Given the description of an element on the screen output the (x, y) to click on. 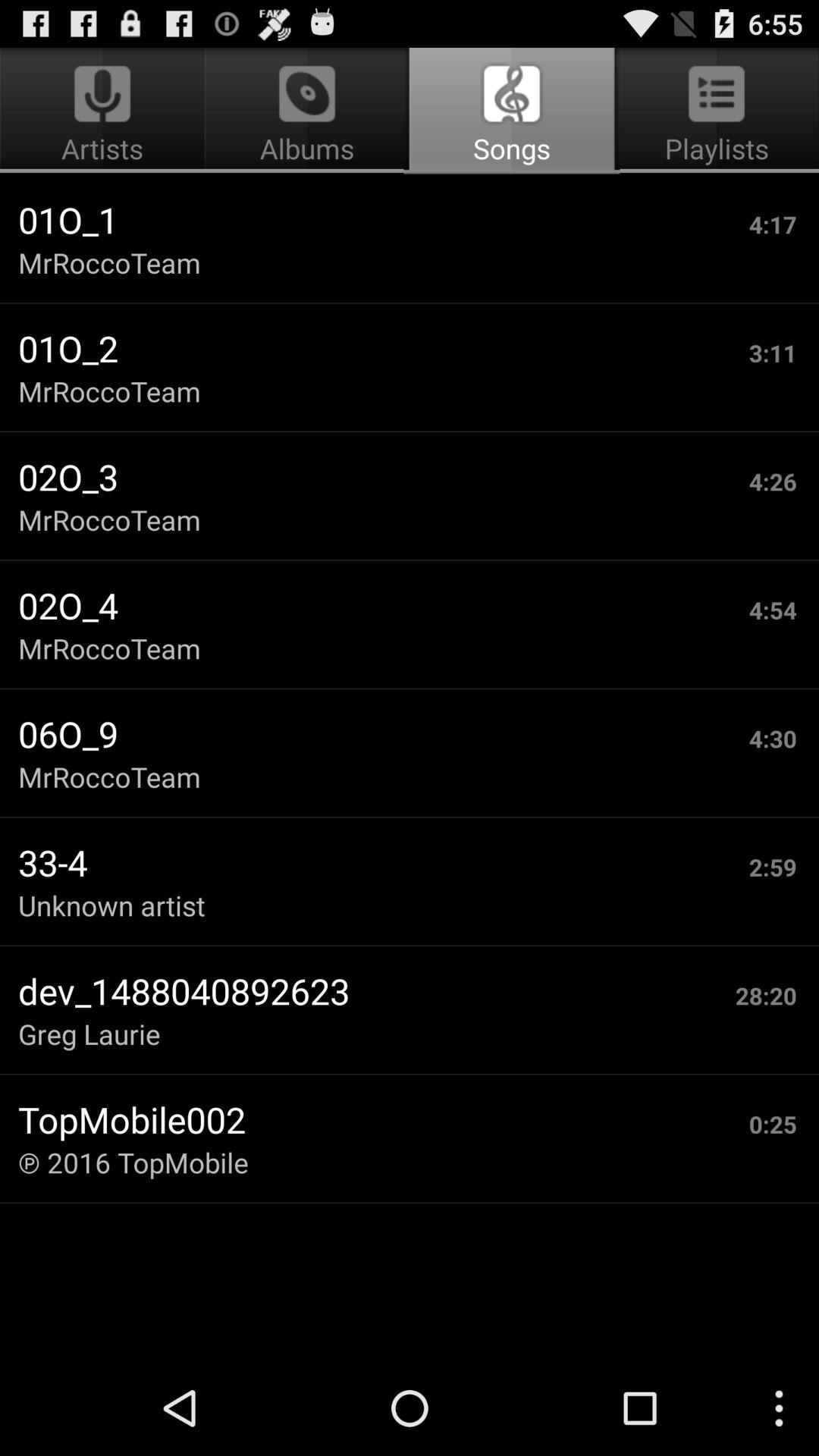
launch the item next to playlists item (307, 111)
